Given the description of an element on the screen output the (x, y) to click on. 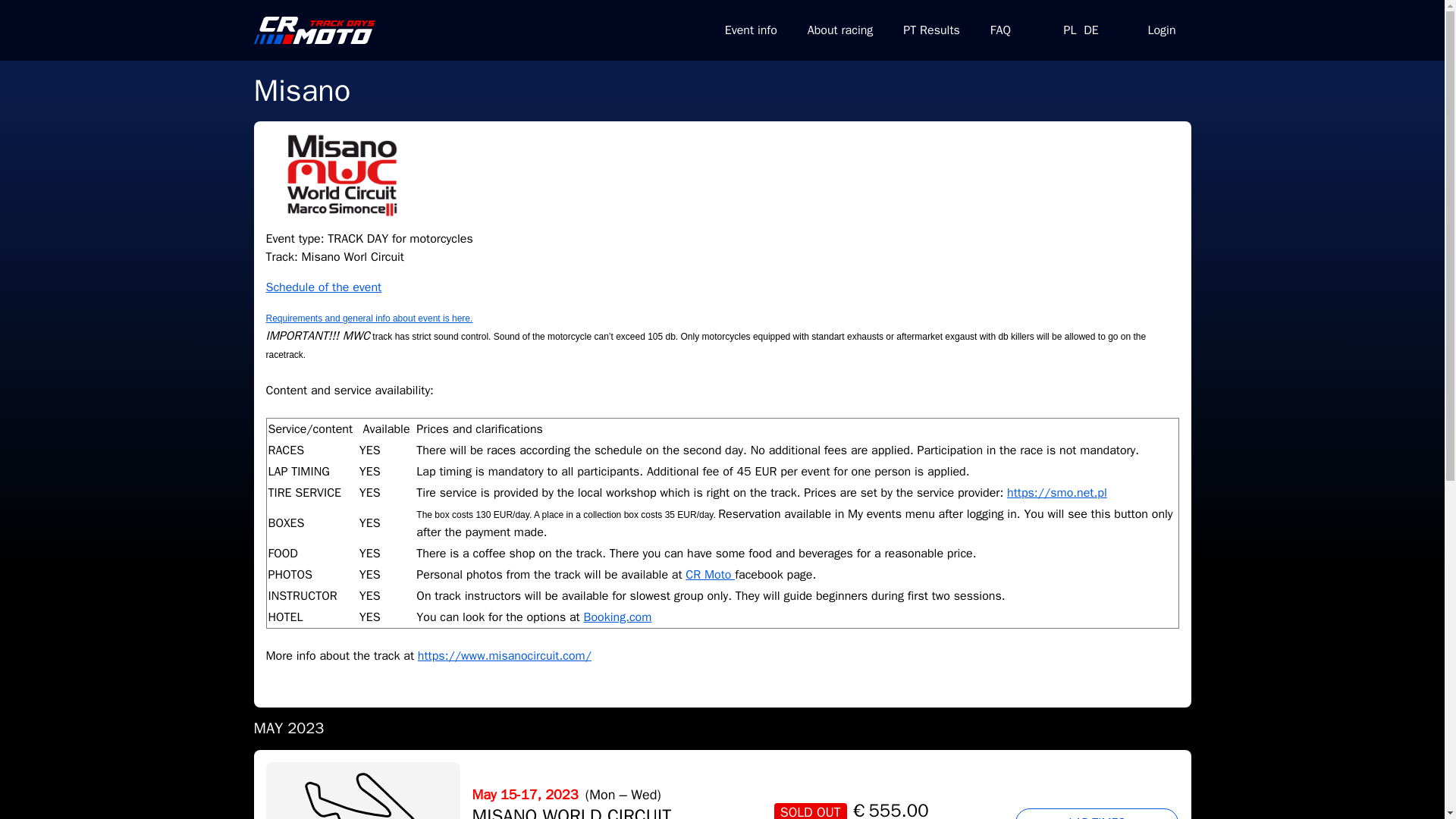
Login (1161, 30)
Booking.com (617, 616)
LAP TIMES (1095, 813)
MISANO WORLD CIRCUIT (571, 811)
Schedule of the event (322, 287)
CR Moto  (710, 574)
Event info (751, 30)
PT Results (931, 30)
Requirements and general info about event is here. (367, 317)
FAQ (1000, 30)
